Given the description of an element on the screen output the (x, y) to click on. 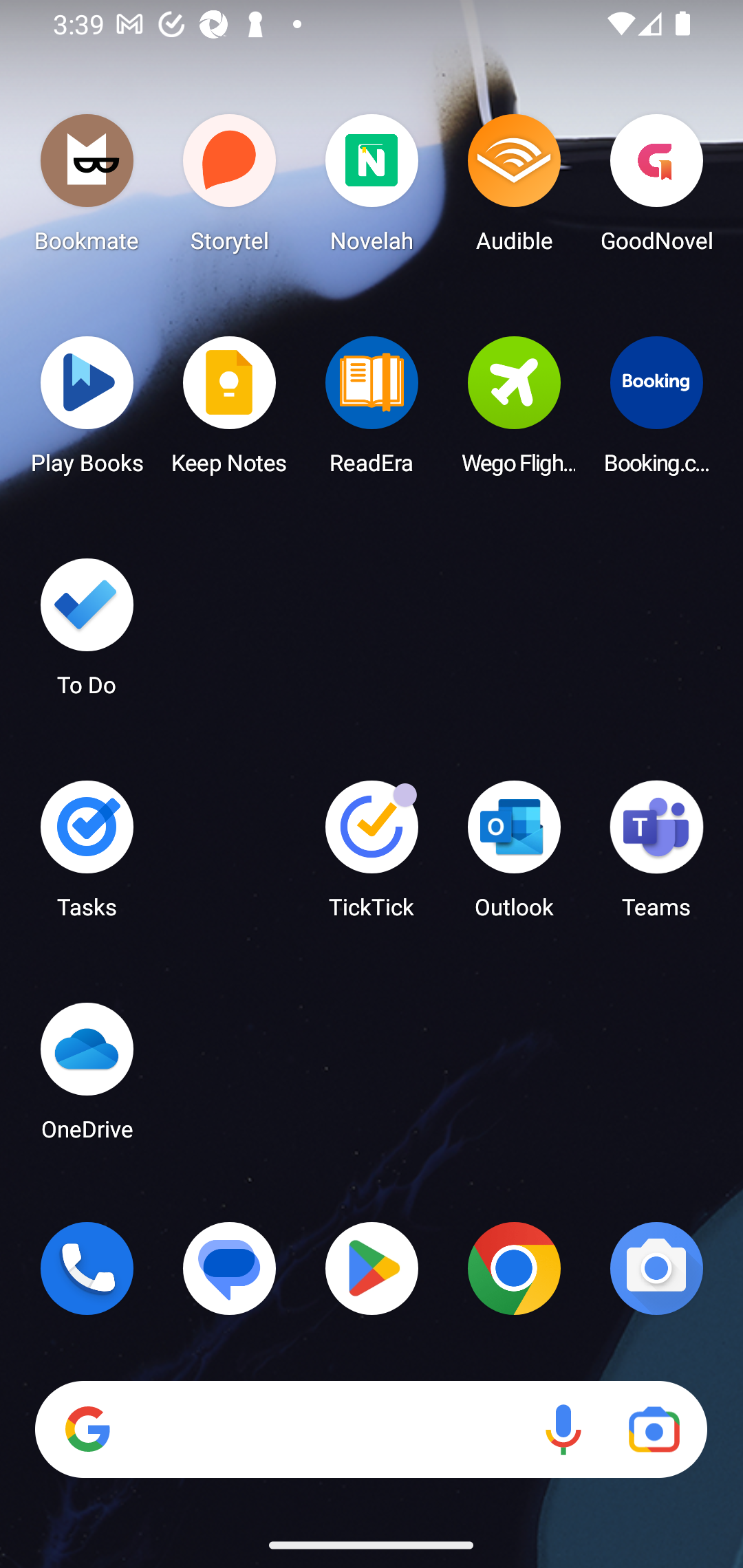
Bookmate (86, 188)
Storytel (229, 188)
Novelah (371, 188)
Audible (513, 188)
GoodNovel (656, 188)
Play Books (86, 410)
Keep Notes (229, 410)
ReadEra (371, 410)
Wego Flights & Hotels (513, 410)
Booking.com (656, 410)
To Do (86, 633)
Tasks (86, 854)
TickTick TickTick has 3 notifications (371, 854)
Outlook (513, 854)
Teams (656, 854)
OneDrive (86, 1076)
Phone (86, 1268)
Messages (229, 1268)
Play Store (371, 1268)
Chrome (513, 1268)
Camera (656, 1268)
Search Voice search Google Lens (370, 1429)
Voice search (562, 1429)
Google Lens (653, 1429)
